Given the description of an element on the screen output the (x, y) to click on. 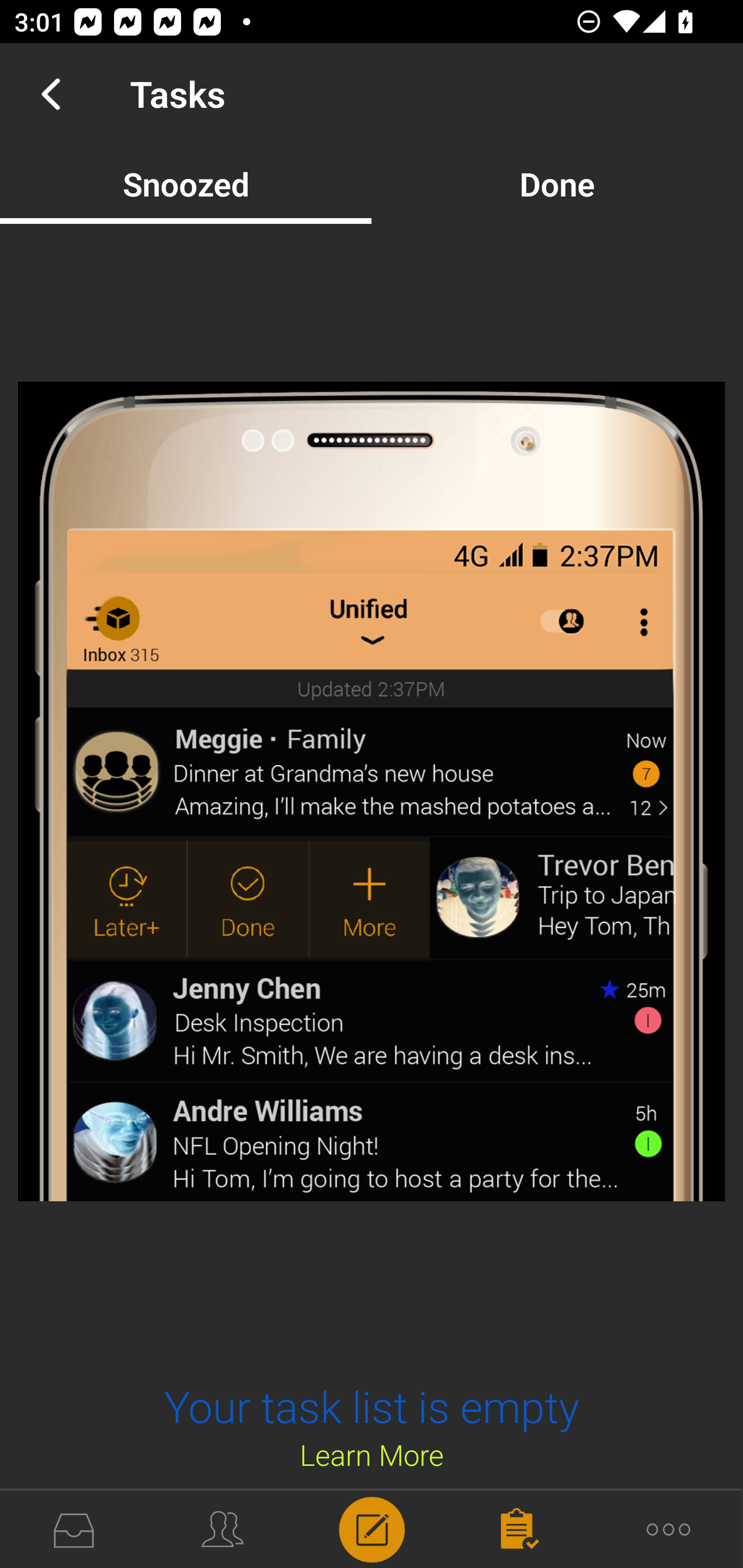
Navigate up (50, 93)
Snoozed (185, 184)
Done (557, 184)
Learn More (371, 1453)
